Given the description of an element on the screen output the (x, y) to click on. 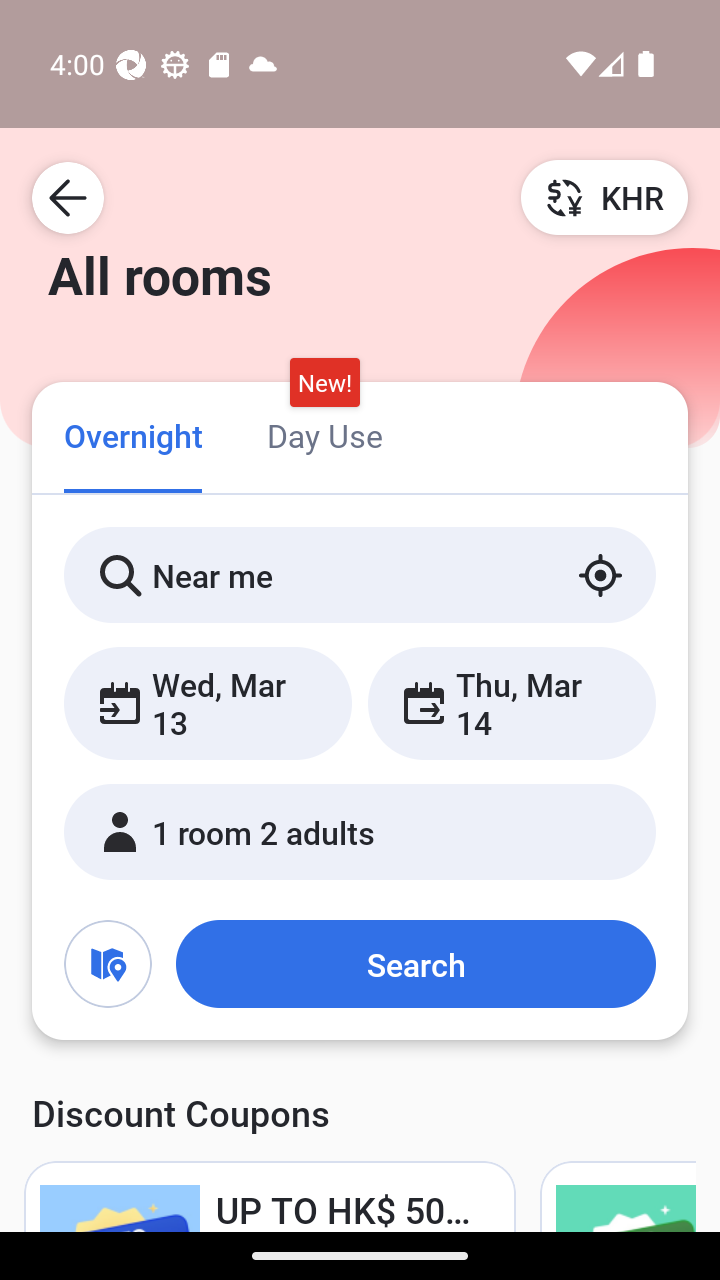
KHR (604, 197)
New! (324, 383)
Day Use (324, 434)
Near me (359, 575)
Wed, Mar 13 (208, 703)
Thu, Mar 14 (511, 703)
1 room 2 adults (359, 831)
Search (415, 964)
